Given the description of an element on the screen output the (x, y) to click on. 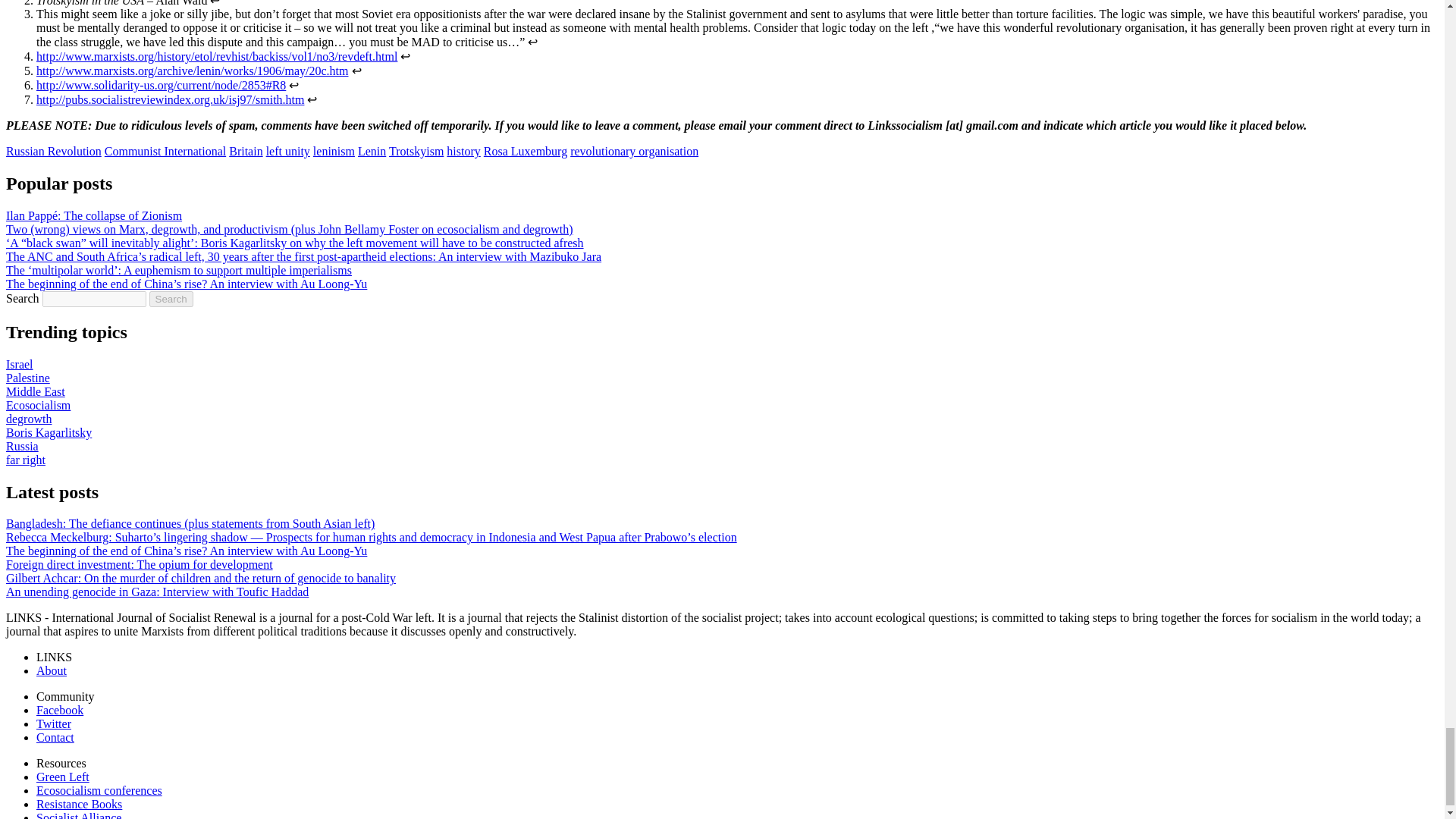
Enter the terms you wish to search for. (94, 299)
Search (171, 299)
Search (171, 299)
